Given the description of an element on the screen output the (x, y) to click on. 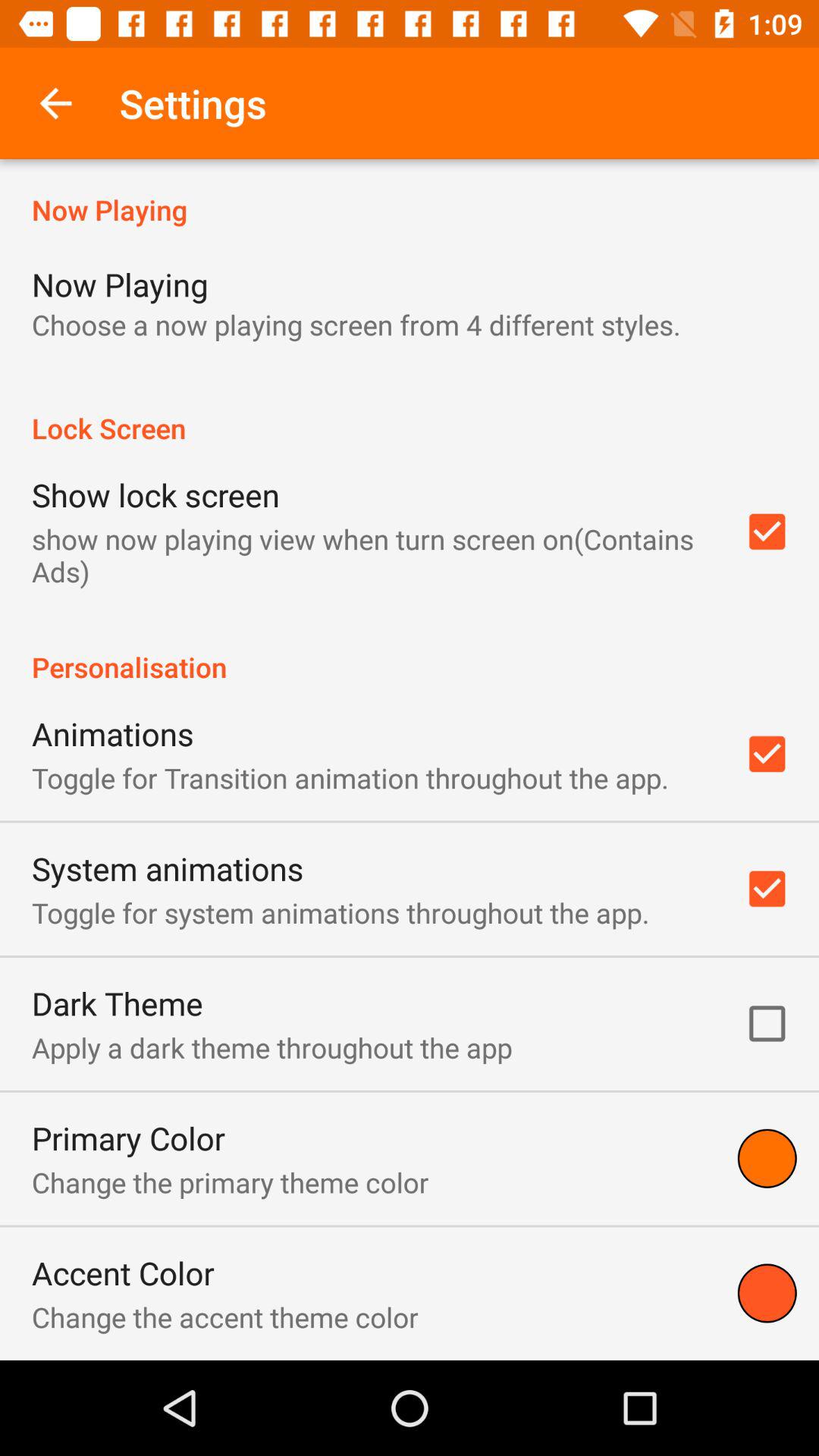
select the icon below the dark theme icon (271, 1047)
